Given the description of an element on the screen output the (x, y) to click on. 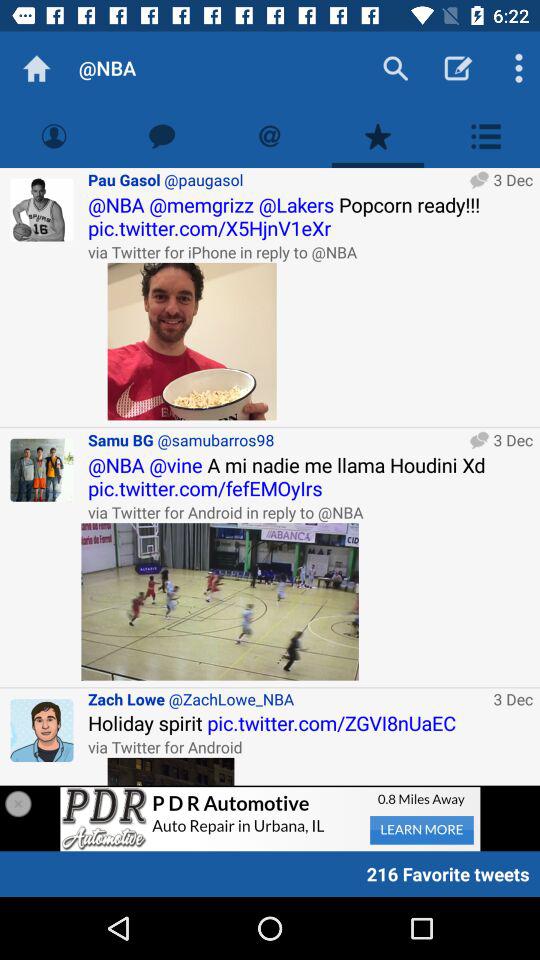
choose icon below via twitter for icon (219, 601)
